Given the description of an element on the screen output the (x, y) to click on. 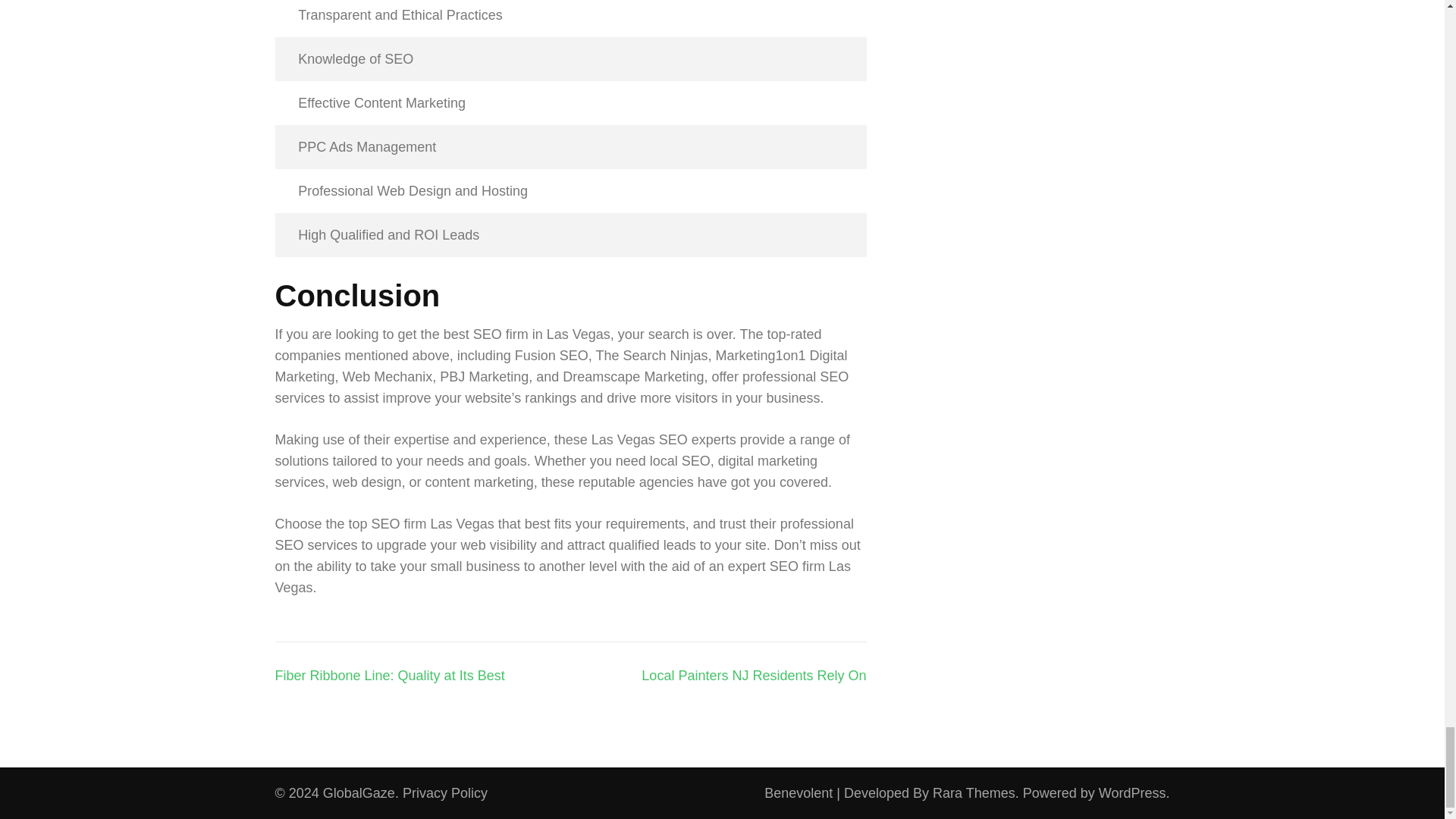
Local Painters NJ Residents Rely On (754, 675)
Fiber Ribbone Line: Quality at Its Best (389, 675)
